Given the description of an element on the screen output the (x, y) to click on. 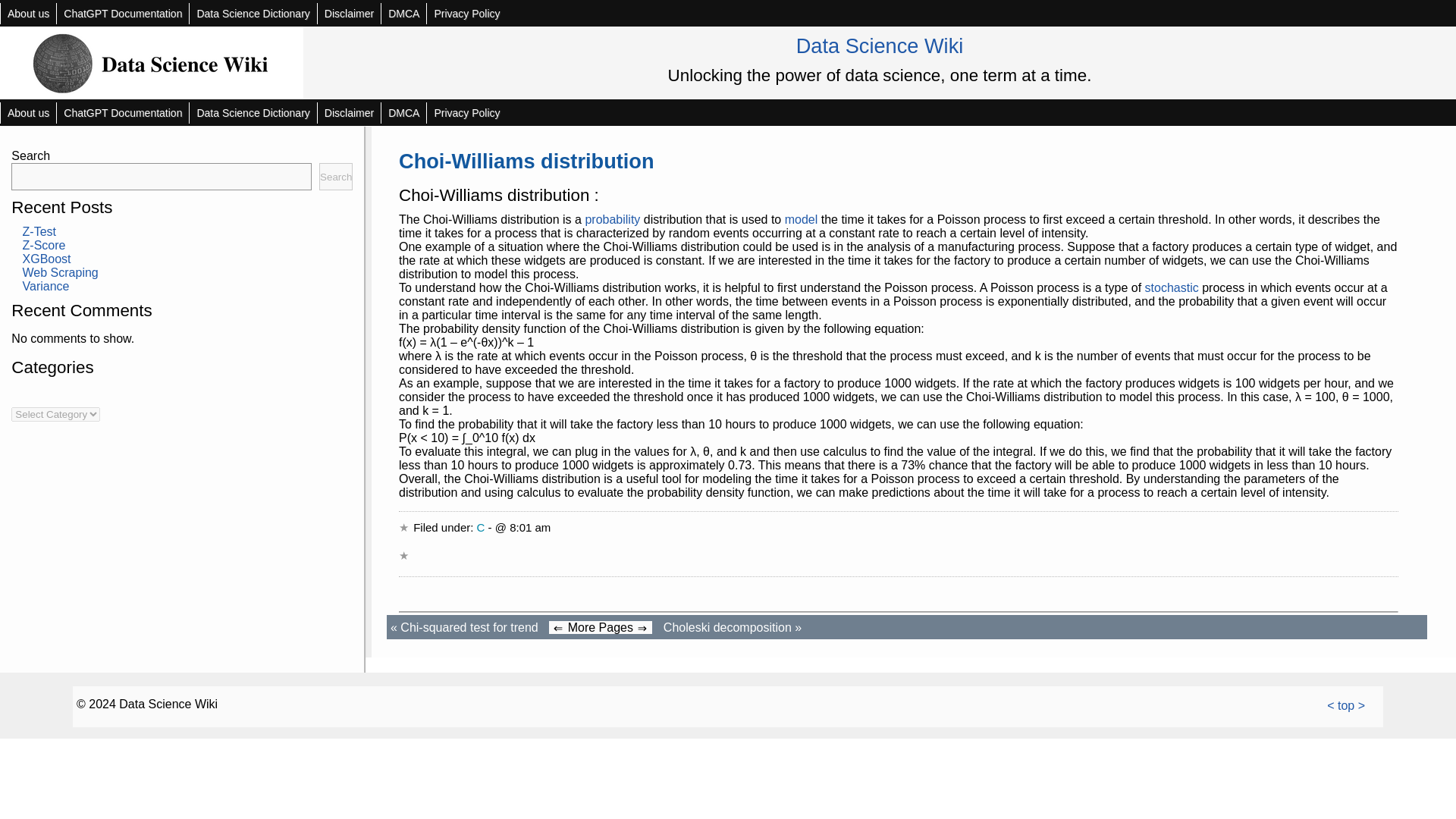
About us (28, 112)
ChatGPT Documentation (122, 13)
Data Science Wiki (879, 45)
Disclaimer (348, 13)
Disclaimer (348, 112)
Data Science Dictionary (252, 13)
About us (28, 13)
Data Science Dictionary (252, 112)
ChatGPT Documentation (122, 112)
DMCA (403, 112)
Privacy Policy (466, 112)
Privacy Policy (466, 13)
DMCA (403, 13)
